Given the description of an element on the screen output the (x, y) to click on. 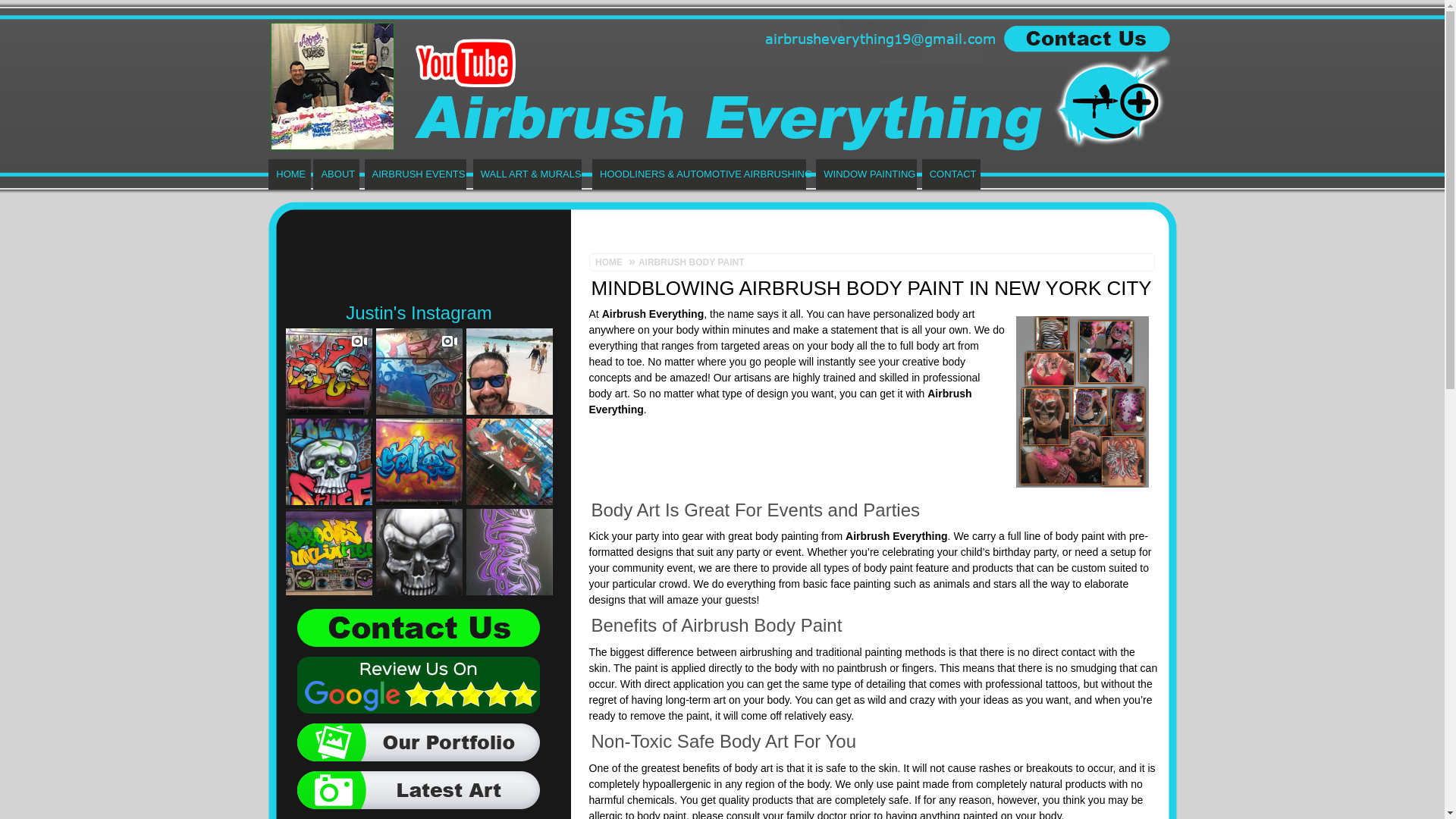
HOME (611, 262)
AIRBRUSH BODY PAINT (688, 262)
WINDOW PAINTING (866, 173)
CONTACT (950, 173)
ABOUT (336, 173)
HOME (288, 173)
AIRBRUSH EVENTS (415, 173)
